Given the description of an element on the screen output the (x, y) to click on. 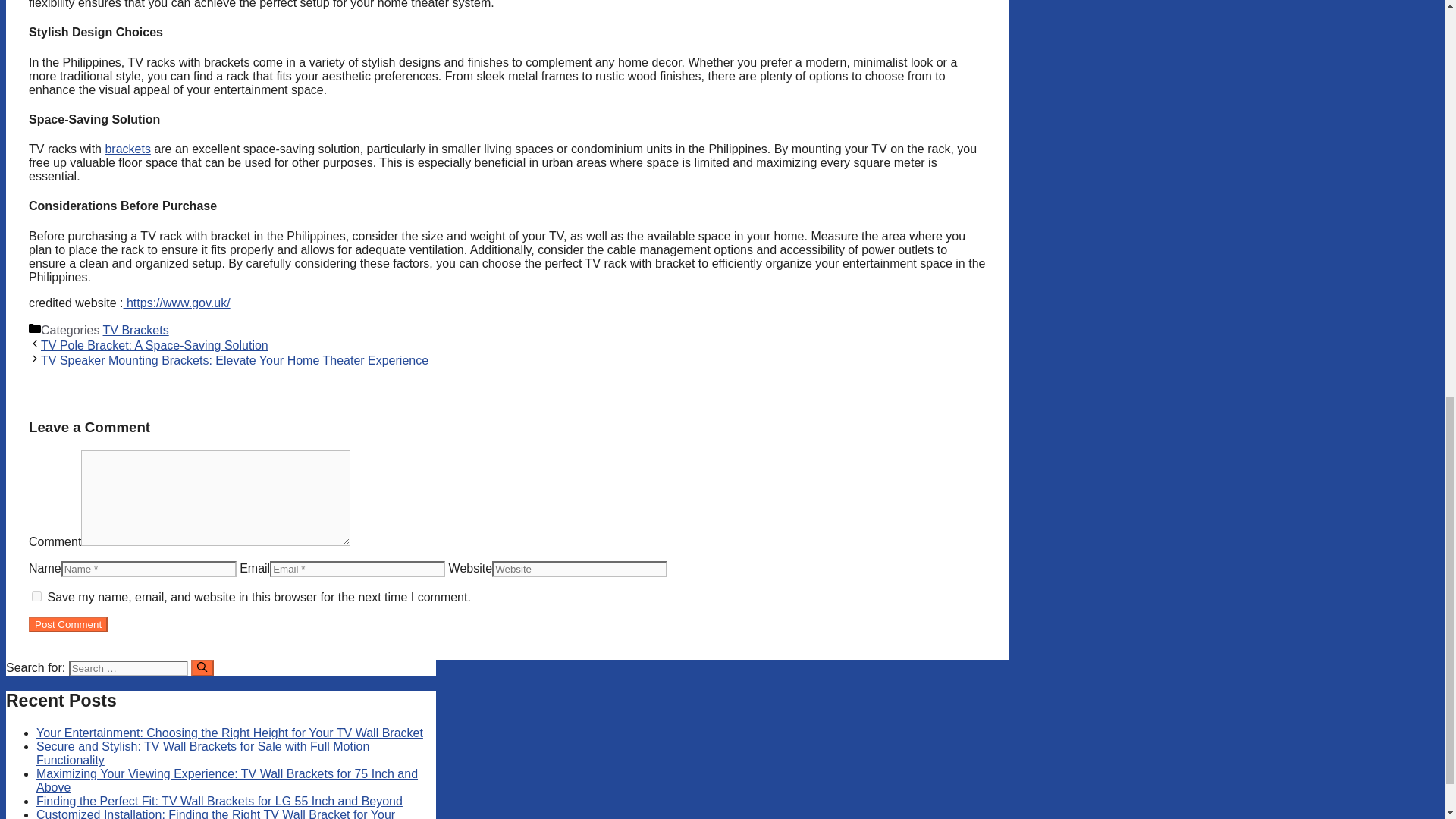
Post Comment (68, 624)
brackets (126, 148)
yes (37, 596)
Post Comment (68, 624)
TV Brackets (135, 329)
Search for: (127, 668)
TV Pole Bracket: A Space-Saving Solution (153, 345)
